Given the description of an element on the screen output the (x, y) to click on. 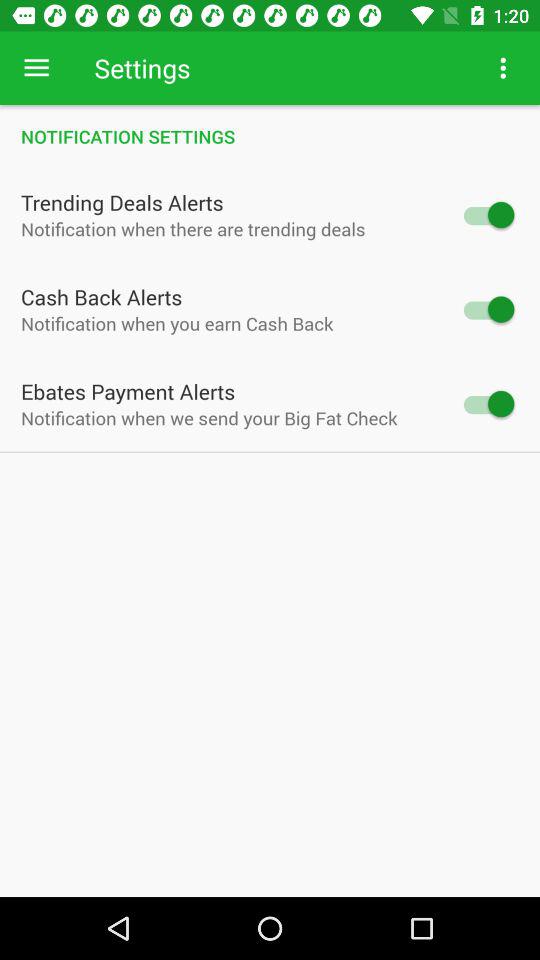
toggle selection off/on (487, 403)
